Given the description of an element on the screen output the (x, y) to click on. 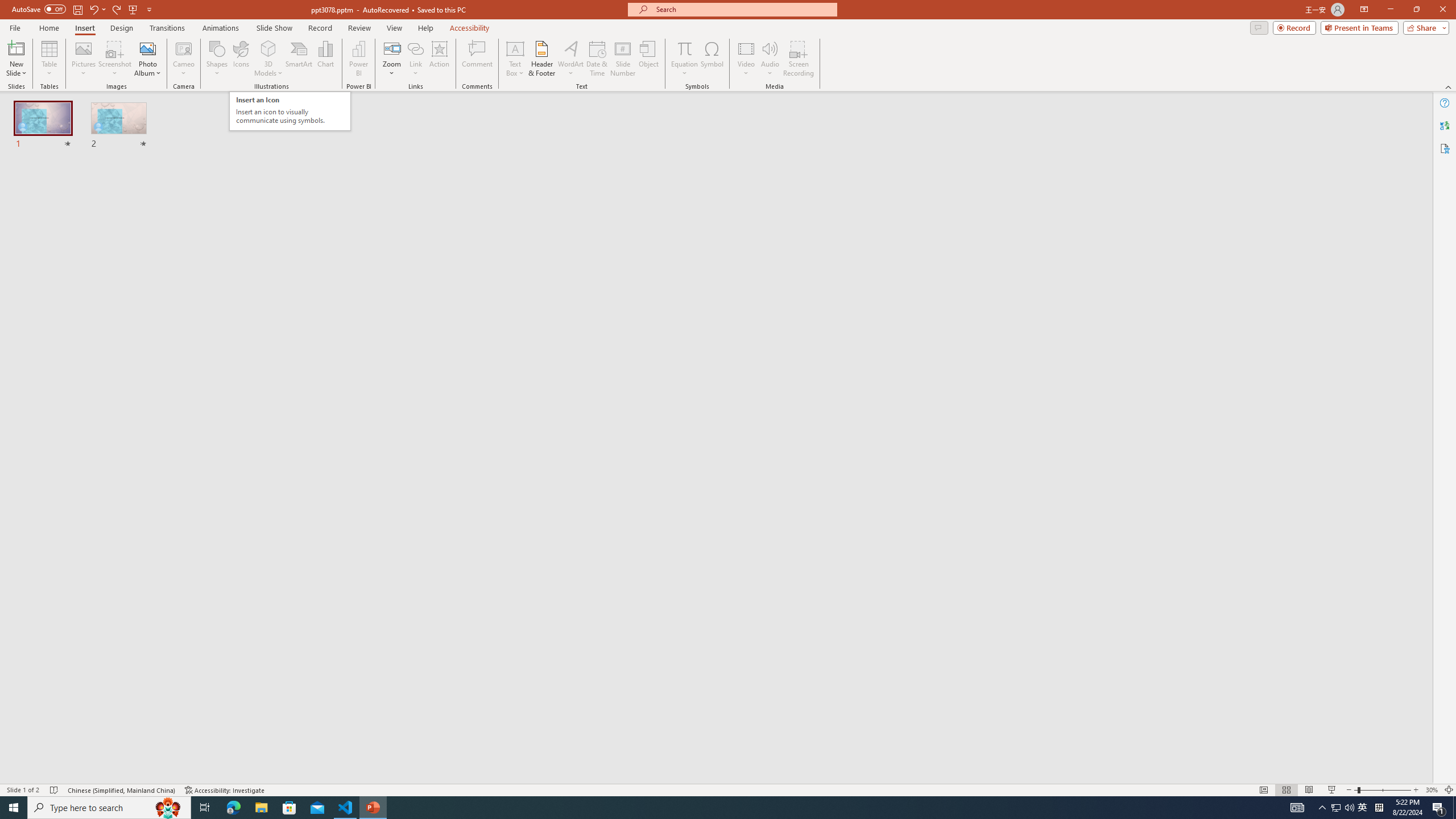
Symbol... (711, 58)
SmartArt... (298, 58)
Zoom 30% (1431, 790)
Table (49, 58)
Screen Recording... (798, 58)
Header & Footer... (541, 58)
